Given the description of an element on the screen output the (x, y) to click on. 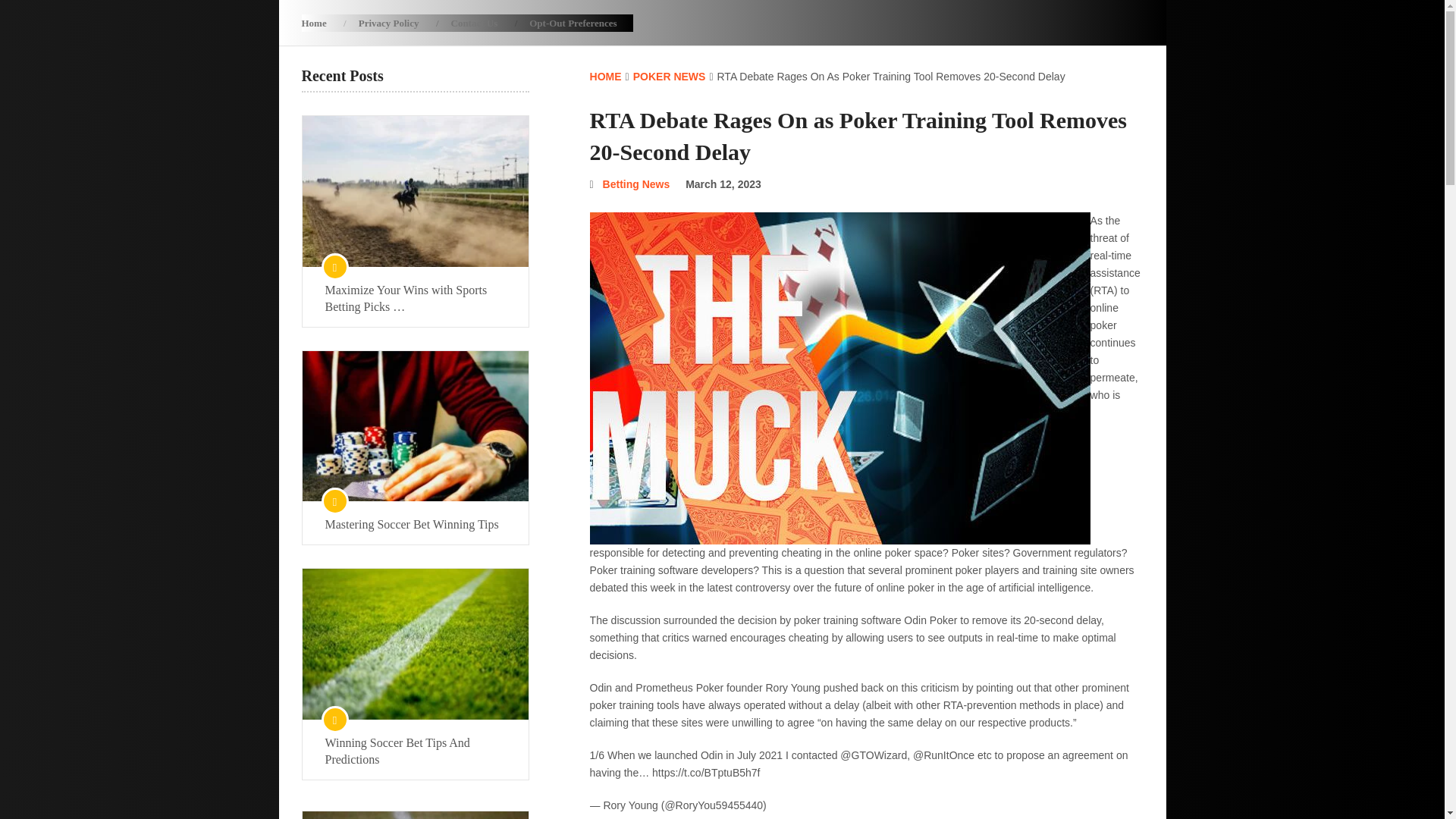
Privacy Policy (388, 22)
Contact Us (474, 22)
Maximize Your Wins with Sports Betting Picks Forum (414, 191)
Winning Soccer Bet Tips And Predictions (414, 751)
Winning Soccer Bet Tips And Predictions (414, 643)
HOME (605, 76)
Opt-Out Preferences (572, 22)
Winning Soccer Bet Tips And Predictions (414, 751)
Home (321, 22)
Betting News (635, 184)
Mastering Soccer Bet Winning Tips (414, 524)
Maximize Your Wins with Sports Betting Picks Forum (414, 298)
Mastering Soccer Bet Winning Tips (414, 524)
Posts by Betting News (635, 184)
